Given the description of an element on the screen output the (x, y) to click on. 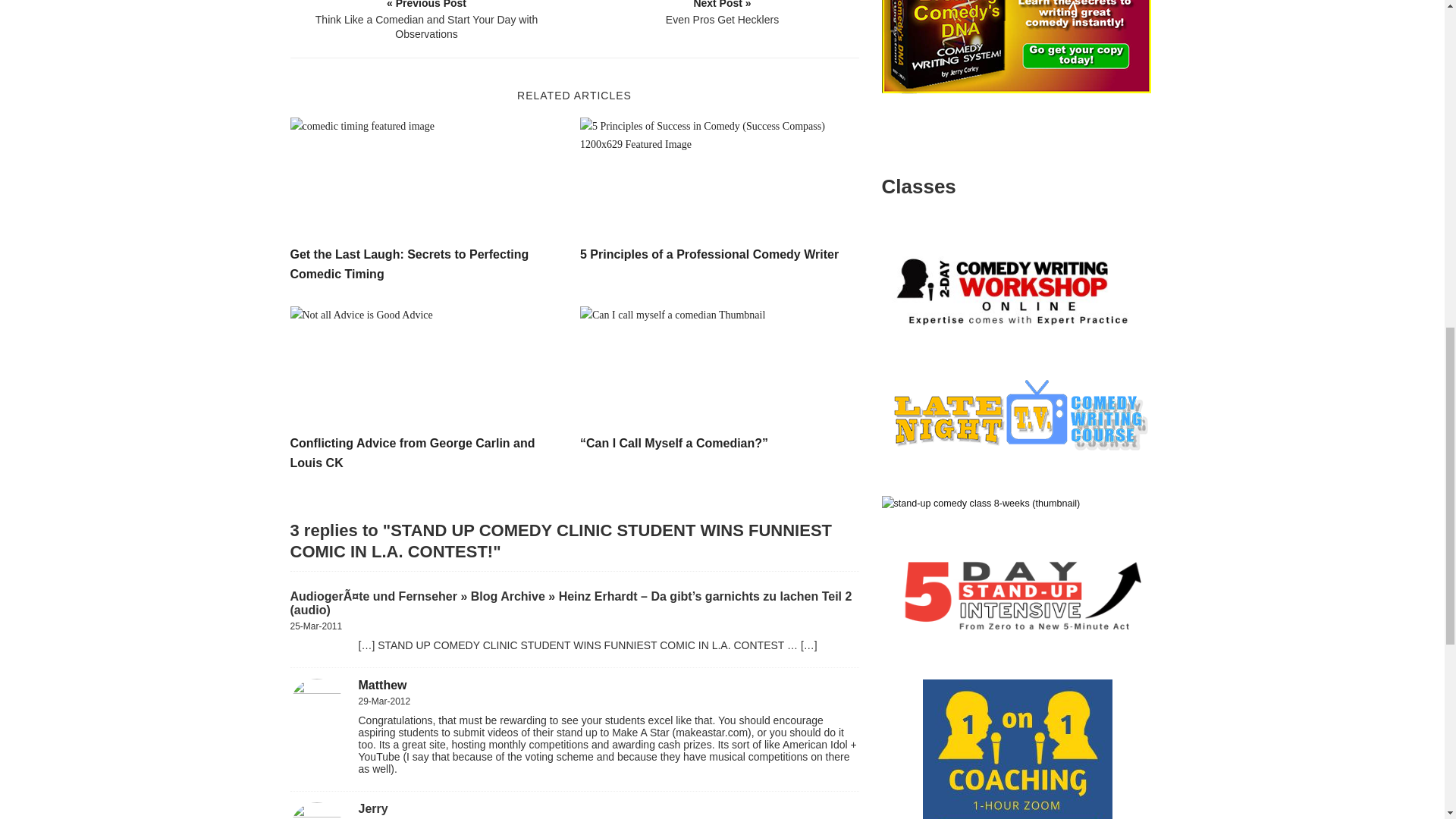
Get the Last Laugh: Secrets to Perfecting Comedic Timing (429, 178)
Even Pros Get Hecklers (722, 13)
Jerry (372, 808)
5 Principles of a Professional Comedy Writer (708, 254)
5 Principles of a Professional Comedy Writer (719, 178)
Think Like a Comedian and Start Your Day with Observations (427, 21)
Conflicting Advice from George Carlin and Louis CK (411, 452)
Conflicting Advice from George Carlin and Louis CK (429, 366)
Get the Last Laugh: Secrets to Perfecting Comedic Timing (408, 264)
